Given the description of an element on the screen output the (x, y) to click on. 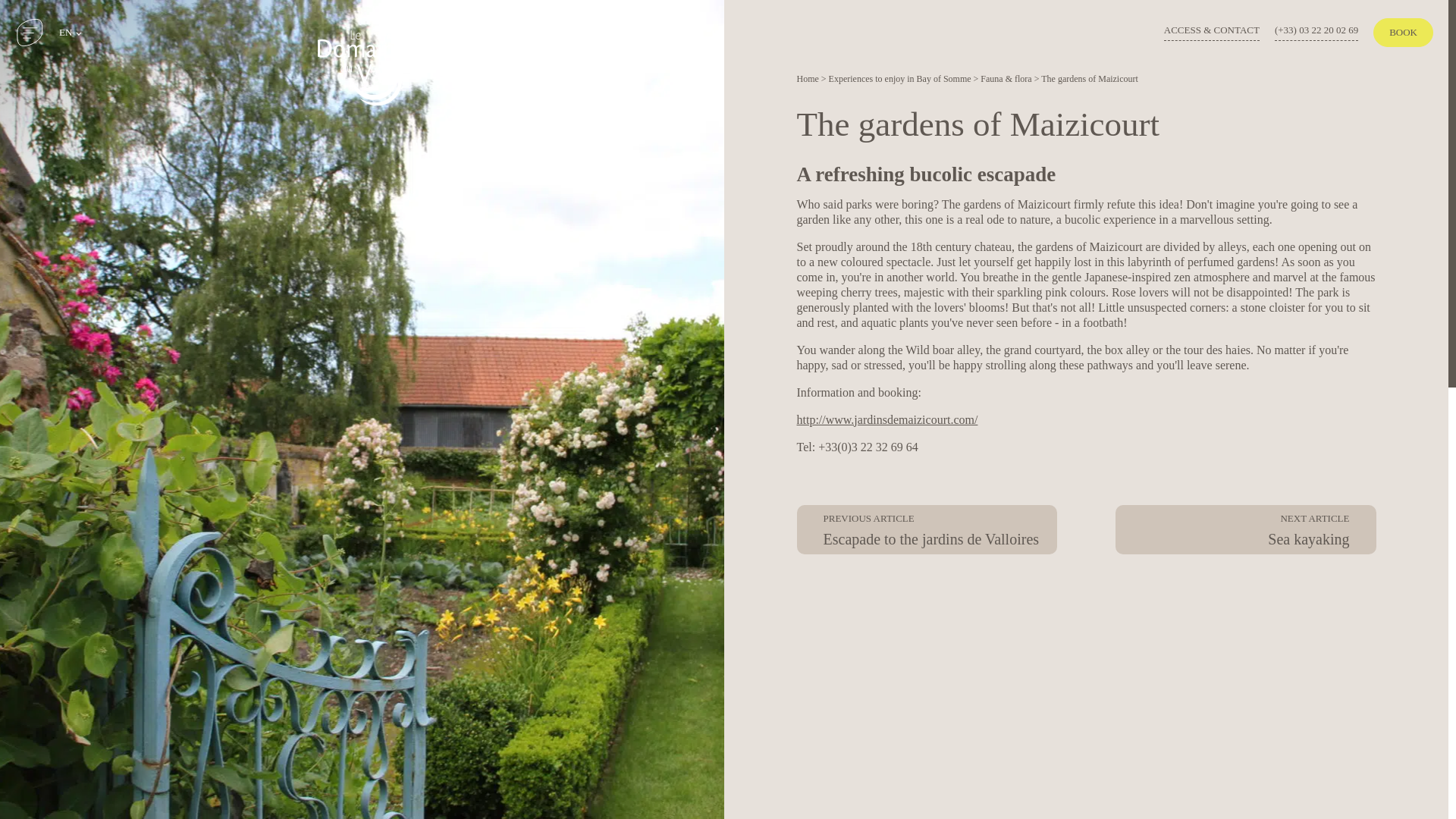
EN (69, 31)
Experiences to enjoy in Bay of Somme (899, 78)
BOOK (1402, 32)
Home (807, 78)
